Given the description of an element on the screen output the (x, y) to click on. 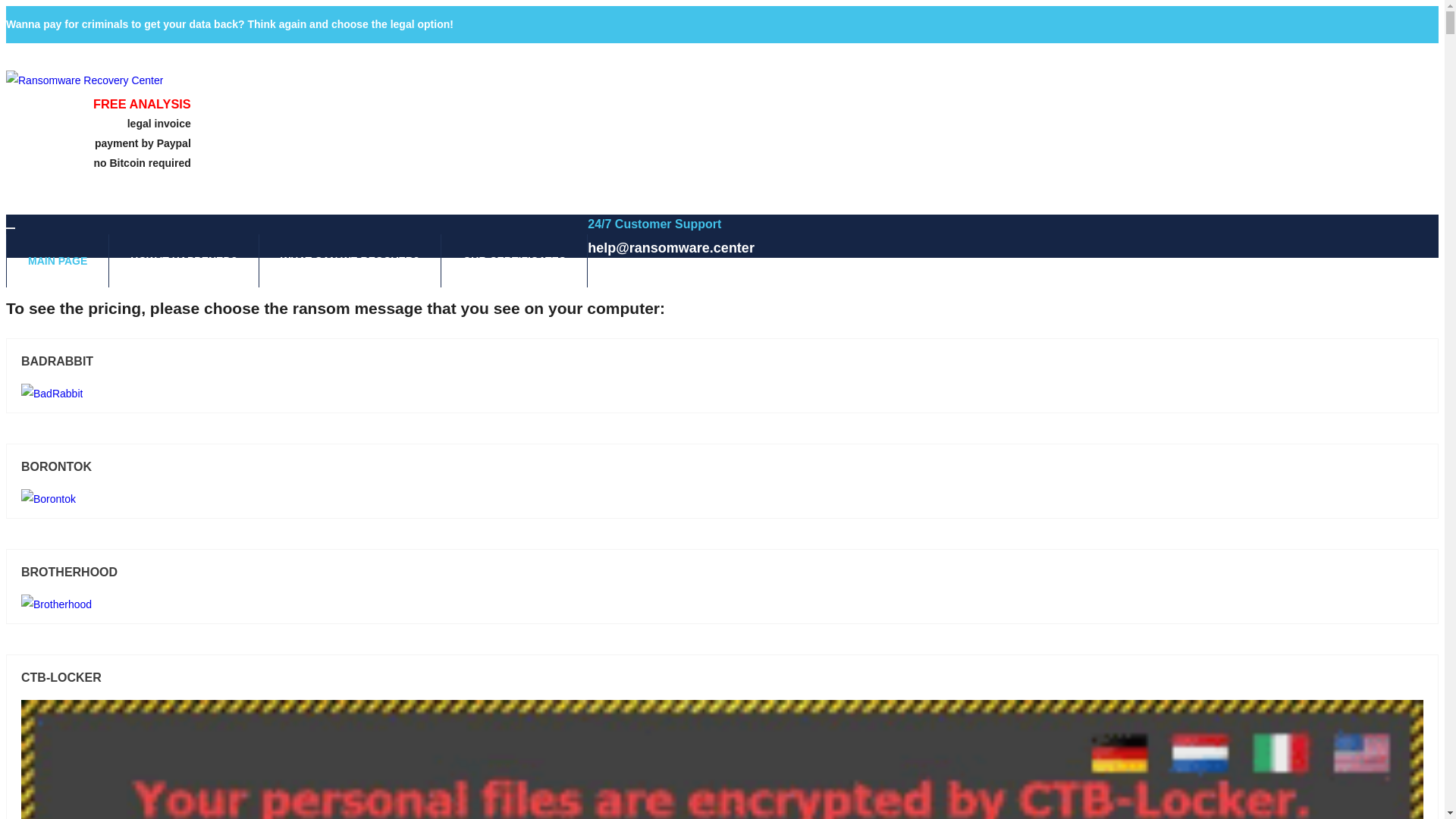
WHAT CAN WE RECOVER? Element type: text (349, 260)
OUR CERTIFICATES Element type: text (513, 260)
HOW IT HAPPENED? Element type: text (183, 260)
MAIN PAGE Element type: text (57, 260)
BADRABBIT Element type: text (722, 361)
BORONTOK Element type: text (722, 466)
BROTHERHOOD Element type: text (722, 572)
help@ransomware.center Element type: text (670, 247)
CTB-LOCKER Element type: text (722, 677)
